Given the description of an element on the screen output the (x, y) to click on. 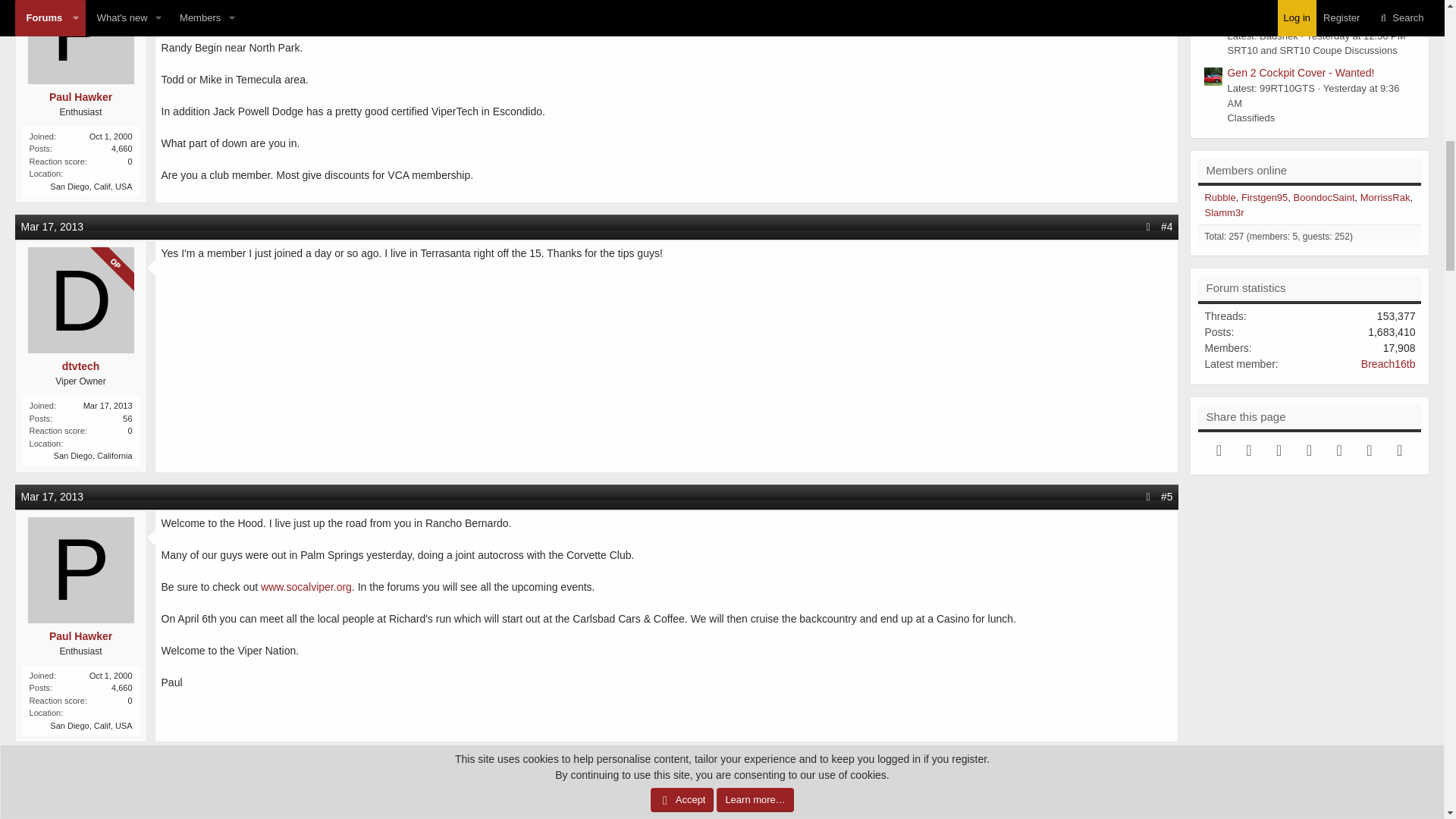
Mar 17, 2013 at 10:30 PM (52, 226)
Mar 17, 2013 at 11:18 PM (52, 766)
Mar 17, 2013 at 11:12 PM (52, 496)
